Given the description of an element on the screen output the (x, y) to click on. 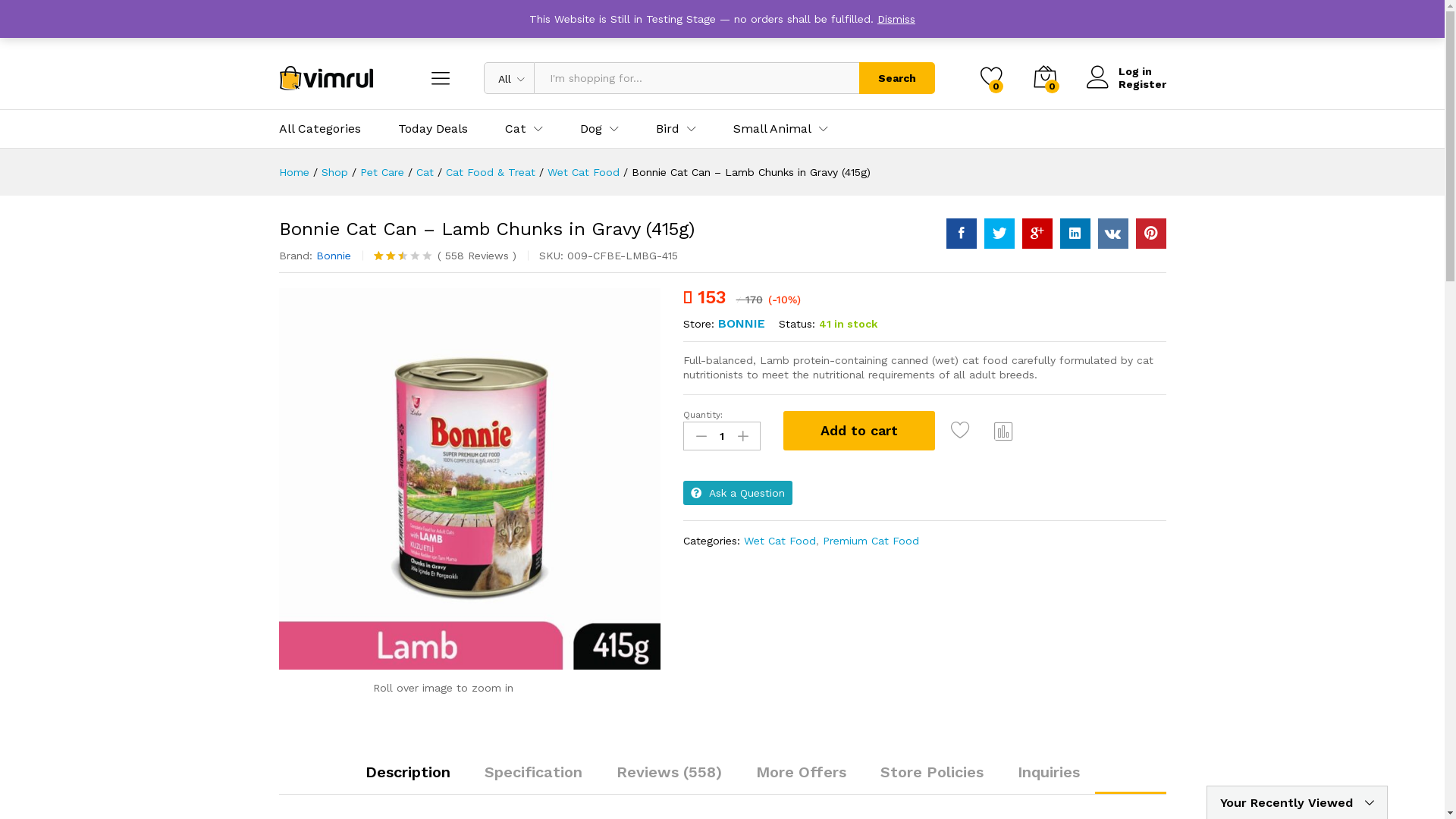
( 558 Reviews ) Element type: text (474, 255)
Log in Element type: text (1125, 71)
Cat Element type: text (515, 128)
BONNIE Element type: text (741, 323)
Small Animal Element type: text (771, 128)
Become Vendor Element type: text (1125, 23)
Reviews (558) Element type: text (668, 771)
Wet Cat Food Element type: text (779, 540)
Bonnie+Cat+Can+%26%238211%3B+Lamb+Chunks+in+Gravy+%28415g%29 Element type: hover (1113, 233)
0 Element type: text (1043, 78)
Inquiries Element type: text (1048, 771)
Instagram Element type: hover (310, 19)
Bonnie Cat Can - Lamb Chunks in Gravy (415g) Element type: hover (469, 478)
Today Deals Element type: text (432, 128)
Description Element type: text (407, 771)
Pet Care Element type: text (381, 172)
Shop Element type: text (334, 172)
Bonnie Element type: text (332, 255)
Dog Element type: text (590, 128)
Add to wishlist Element type: hover (962, 430)
Bird Element type: text (666, 128)
Bonnie+Cat+Can+%26%238211%3B+Lamb+Chunks+in+Gravy+%28415g%29 Element type: hover (1037, 233)
Store Policies Element type: text (930, 771)
Dismiss Element type: text (896, 18)
Wet Cat Food Element type: text (583, 172)
Cat Element type: text (424, 172)
Cat Food & Treat Element type: text (490, 172)
More Offers Element type: text (800, 771)
Bonnie+Cat+Can+%26%238211%3B+Lamb+Chunks+in+Gravy+%28415g%29 Element type: hover (999, 233)
Premium Cat Food Element type: text (870, 540)
Specification Element type: text (532, 771)
0 Element type: text (990, 78)
Search Element type: text (896, 78)
Bonnie+Cat+Can+%26%238211%3B+Lamb+Chunks+in+Gravy+%28415g%29 Element type: hover (1150, 233)
  Ask a Question Element type: text (737, 492)
Qty Element type: hover (721, 435)
Add to cart Element type: text (859, 430)
Home Element type: text (294, 172)
Register Element type: text (1125, 84)
Compare Element type: text (1003, 430)
All Categories Element type: text (319, 128)
Bonnie+Cat+Can+%26%238211%3B+Lamb+Chunks+in+Gravy+%28415g%29 Element type: hover (1075, 233)
Facebook Element type: hover (284, 19)
